Given the description of an element on the screen output the (x, y) to click on. 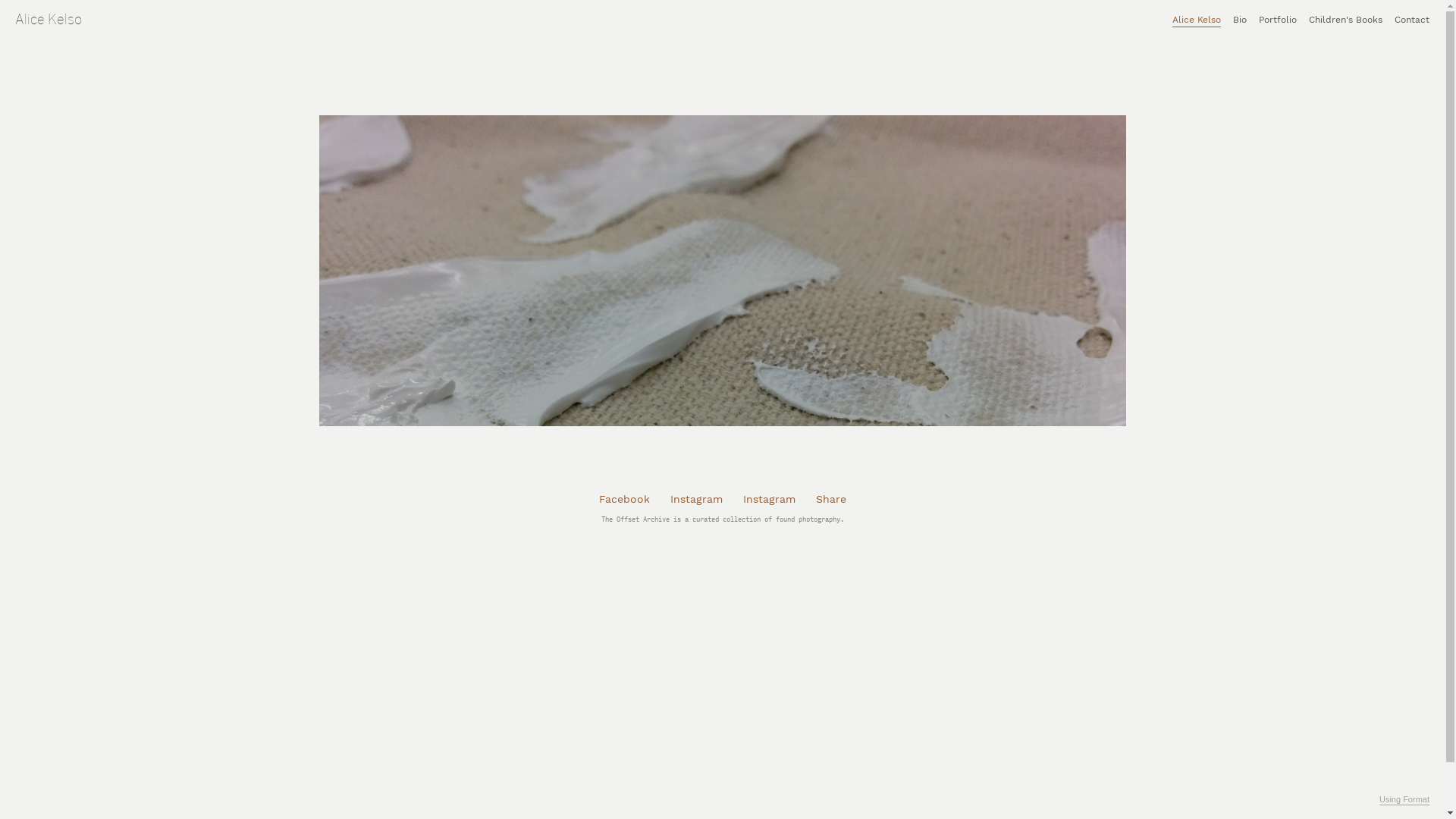
Children's Books Element type: text (1345, 20)
Instagram Element type: text (769, 499)
Alice Kelso Element type: text (48, 19)
Portfolio Element type: text (1277, 20)
Contact Element type: text (1411, 20)
Share Element type: text (830, 499)
Bio Element type: text (1239, 20)
Instagram Element type: text (696, 499)
Facebook Element type: text (624, 499)
Using Format Element type: text (1404, 799)
Alice Kelso Element type: text (1196, 20)
